Given the description of an element on the screen output the (x, y) to click on. 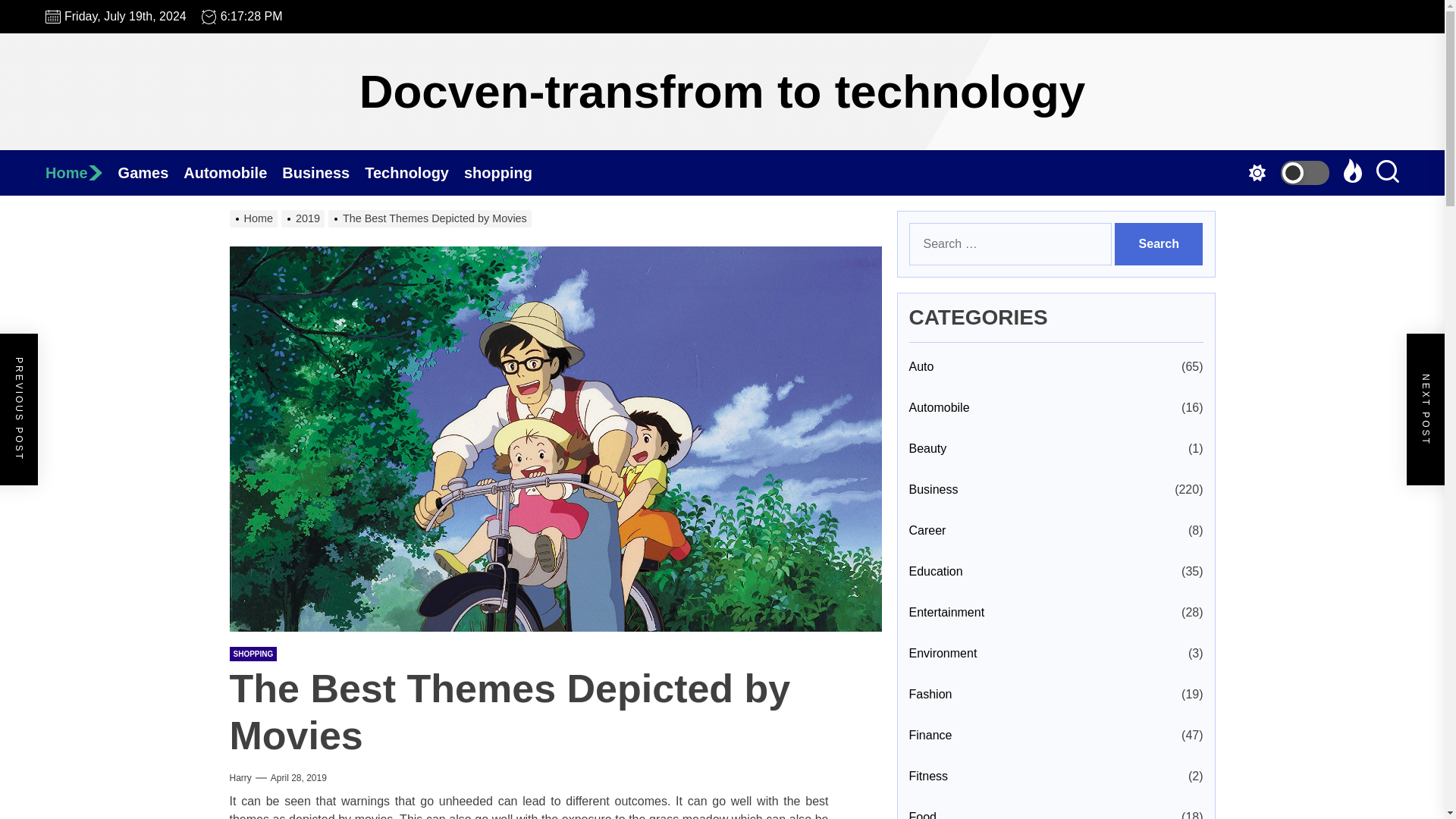
Docven-transfrom to technology (722, 91)
Home (81, 172)
Games (150, 172)
shopping (505, 172)
Technology (414, 172)
Search (1158, 243)
Business (323, 172)
Home (81, 172)
Automobile (232, 172)
Search (1158, 243)
